Given the description of an element on the screen output the (x, y) to click on. 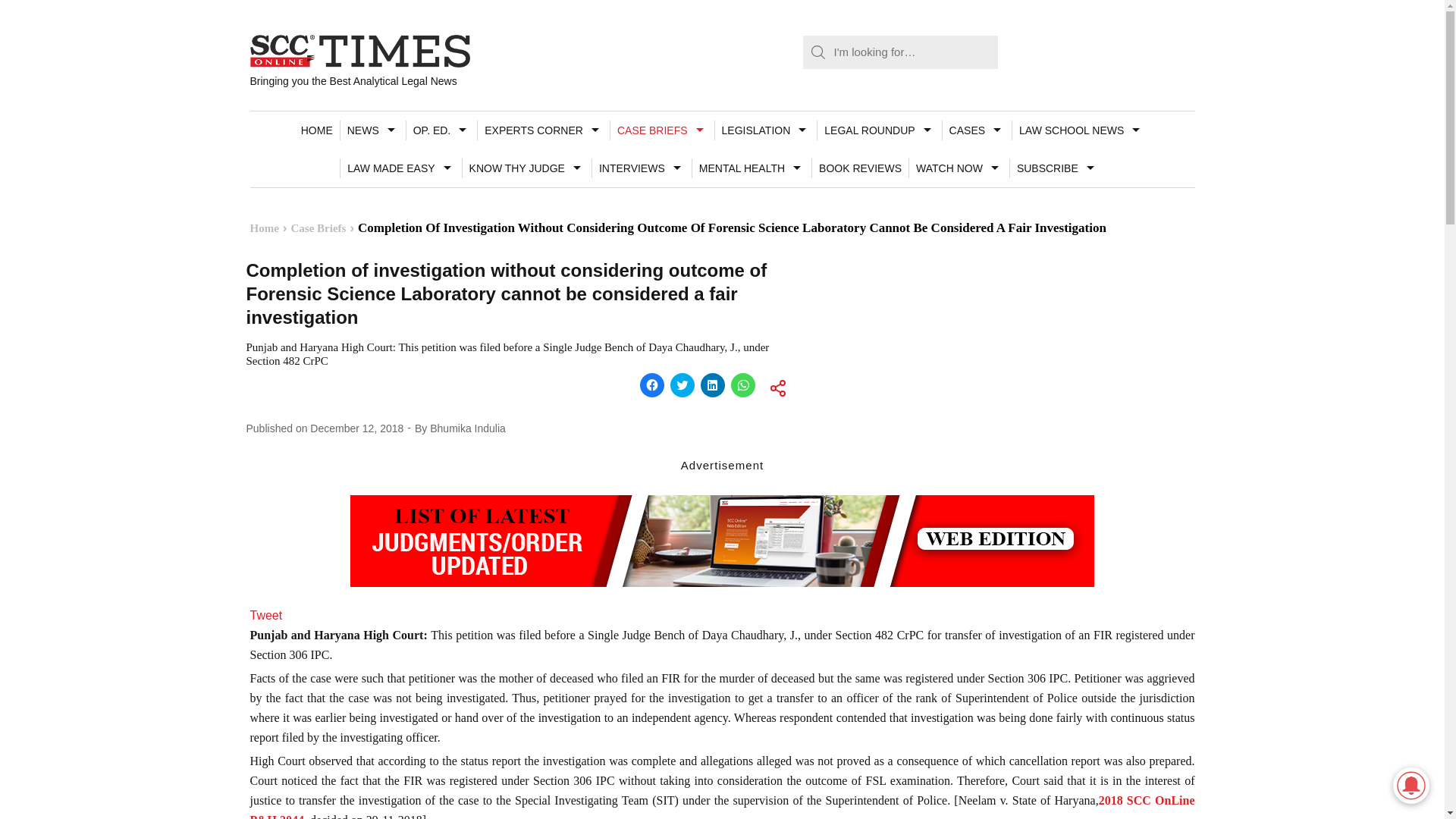
EXPERTS CORNER (543, 130)
Click to share on Twitter (681, 385)
HOME (316, 130)
OP. ED. (441, 130)
Click to share on LinkedIn (712, 385)
Click to share on WhatsApp (742, 385)
NEWS (372, 130)
Click to share on Facebook (651, 385)
CASE BRIEFS (662, 130)
